Given the description of an element on the screen output the (x, y) to click on. 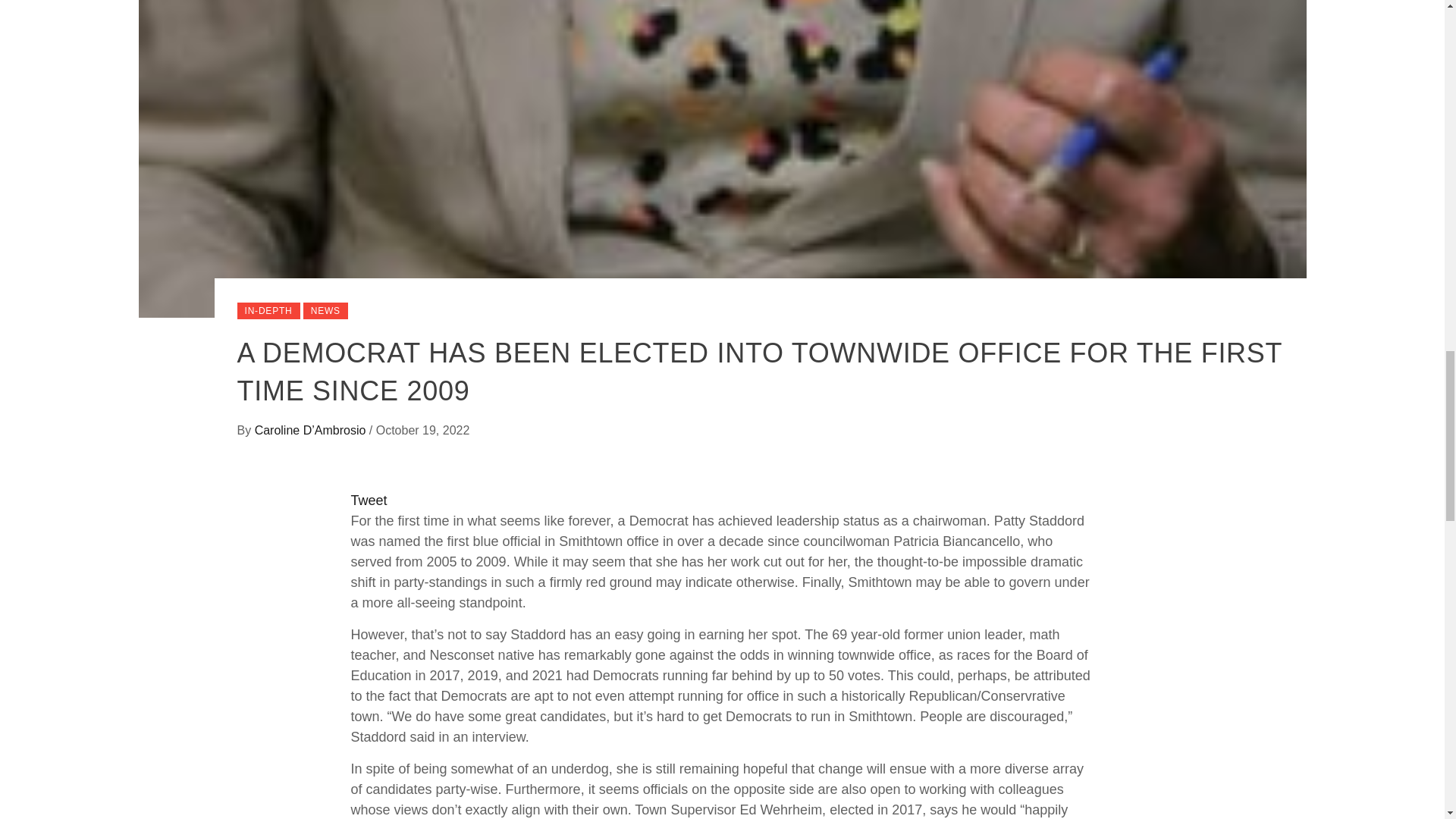
IN-DEPTH (267, 310)
NEWS (324, 310)
Tweet (368, 500)
